Given the description of an element on the screen output the (x, y) to click on. 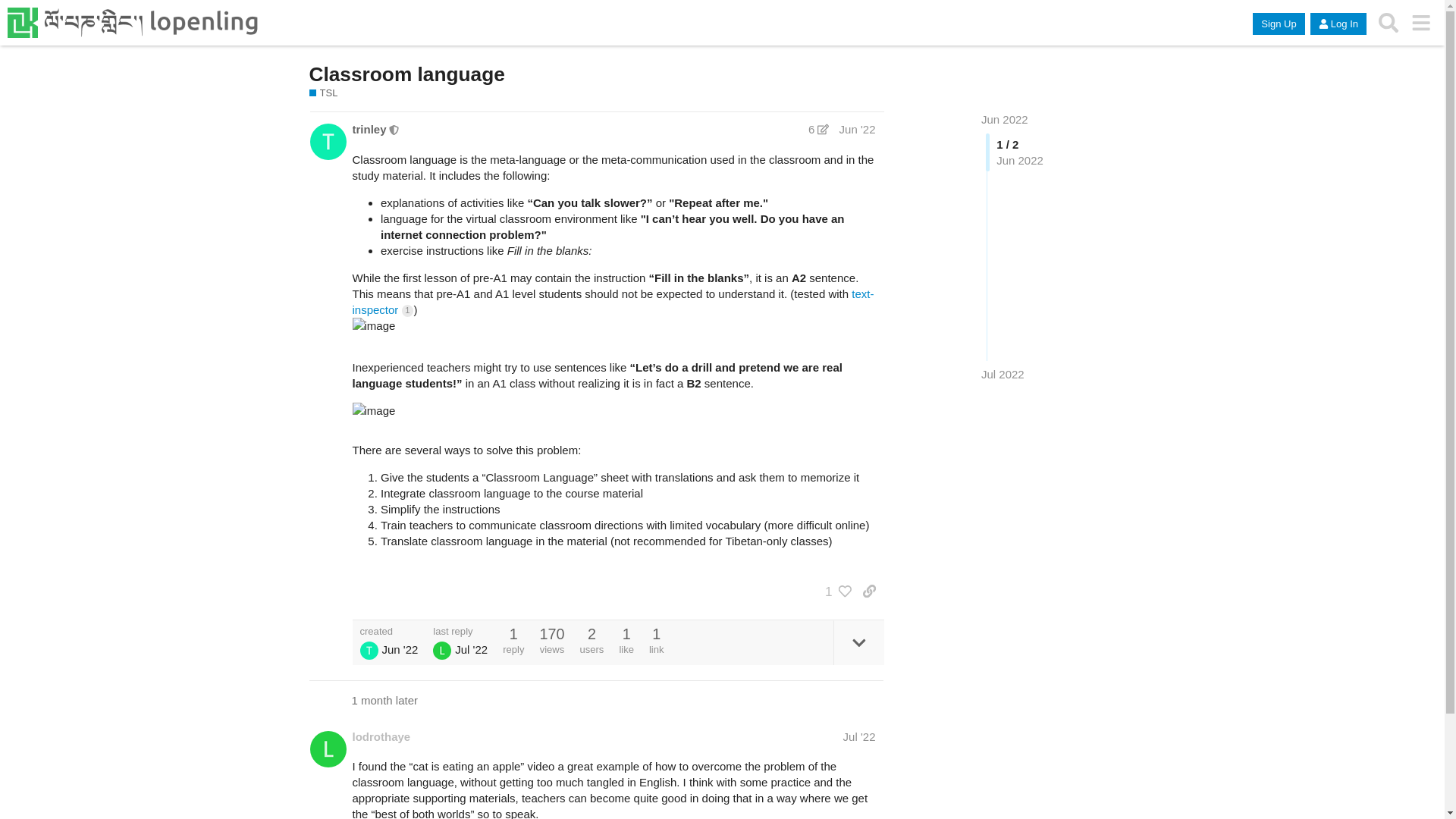
Jul 28, 2022 8:48 pm (1003, 373)
menu (1421, 22)
last reply (459, 631)
Tibetan as a Second Language (328, 92)
Search (1389, 22)
Log In (1338, 24)
6 (817, 128)
1 person liked this post (833, 591)
This user is a moderator (394, 129)
lodrothaye (381, 736)
